Given the description of an element on the screen output the (x, y) to click on. 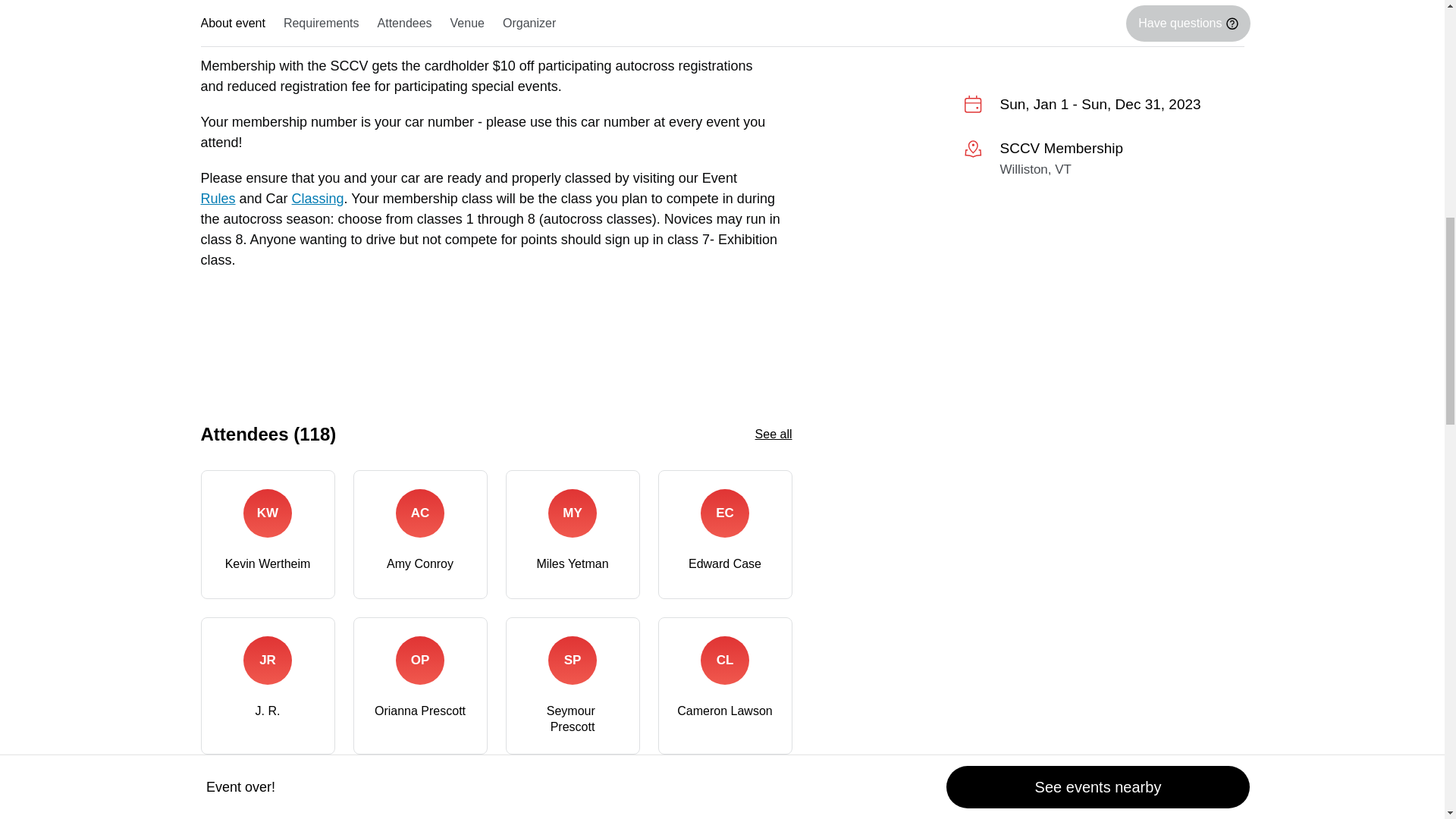
See all (773, 433)
Rules (217, 198)
Classing (317, 198)
